Given the description of an element on the screen output the (x, y) to click on. 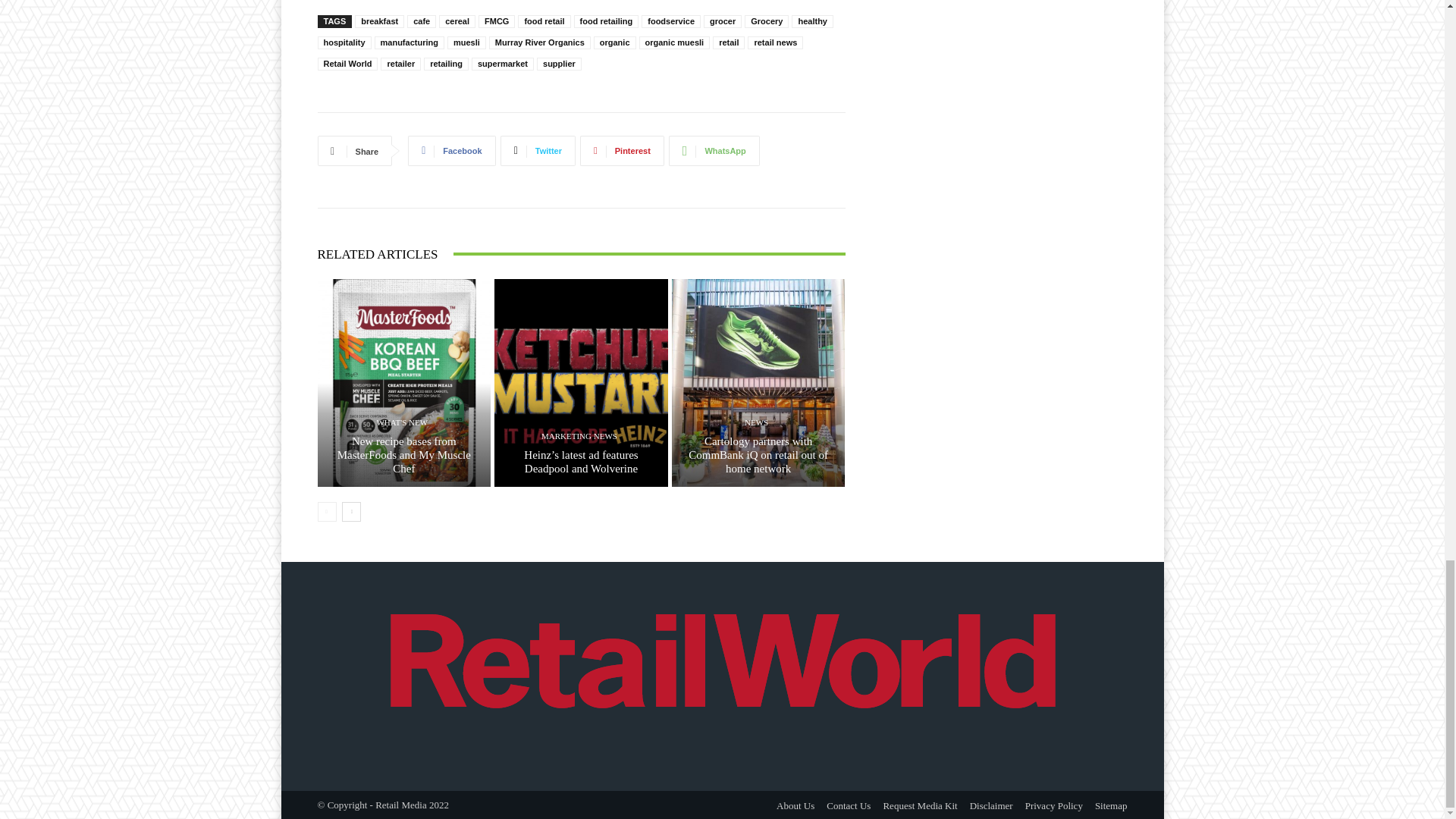
Facebook (451, 150)
Twitter (537, 150)
